Given the description of an element on the screen output the (x, y) to click on. 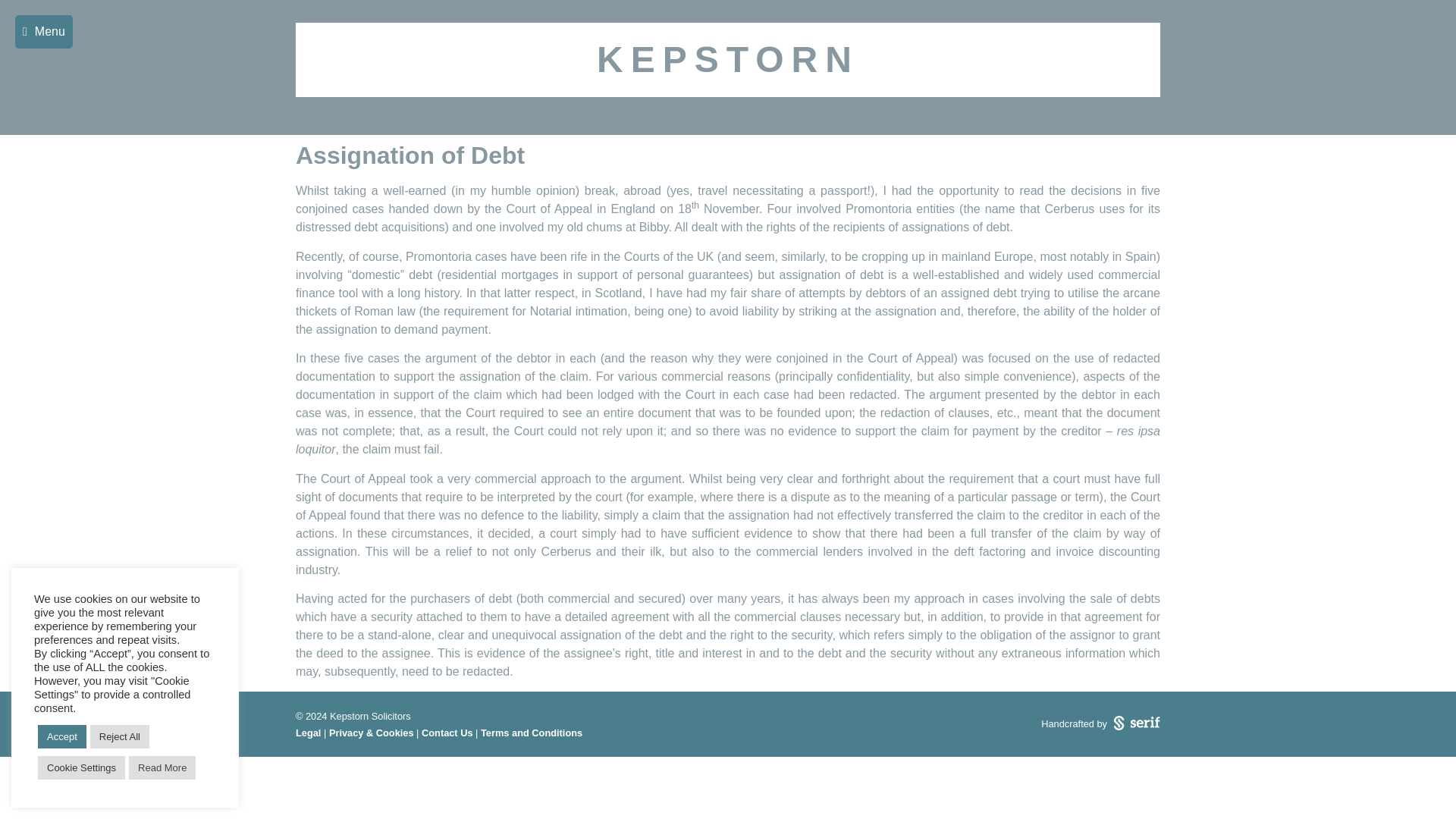
Terms and Conditions (531, 732)
Accept (61, 736)
KEPSTORN (727, 59)
Legal (307, 732)
Contact Us (447, 732)
Reject All (119, 736)
